Given the description of an element on the screen output the (x, y) to click on. 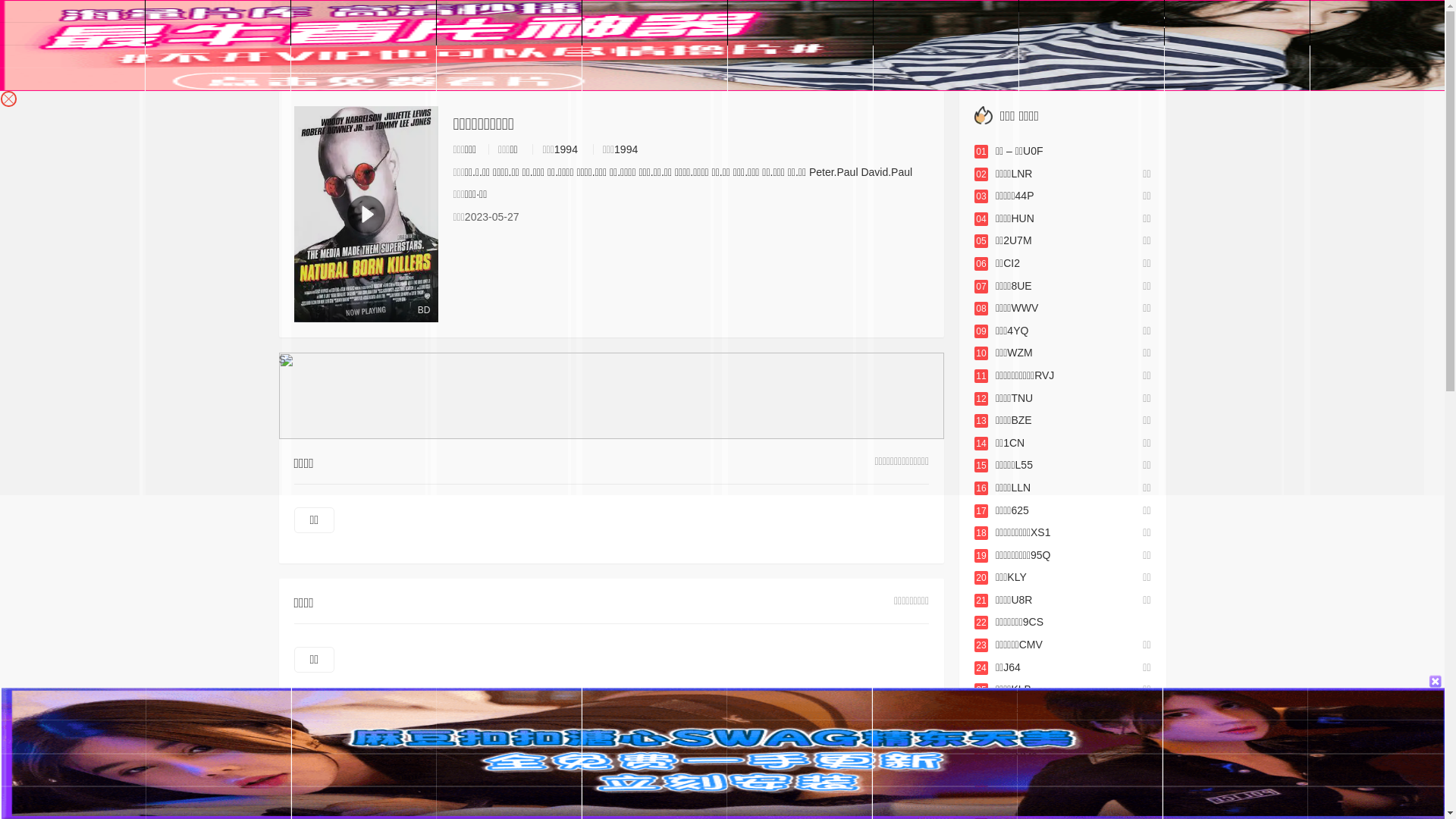
1994 Element type: text (565, 149)
Peter.Paul Element type: text (833, 172)
BD Element type: text (366, 214)
David.Paul Element type: text (886, 172)
1994 Element type: text (625, 149)
